Given the description of an element on the screen output the (x, y) to click on. 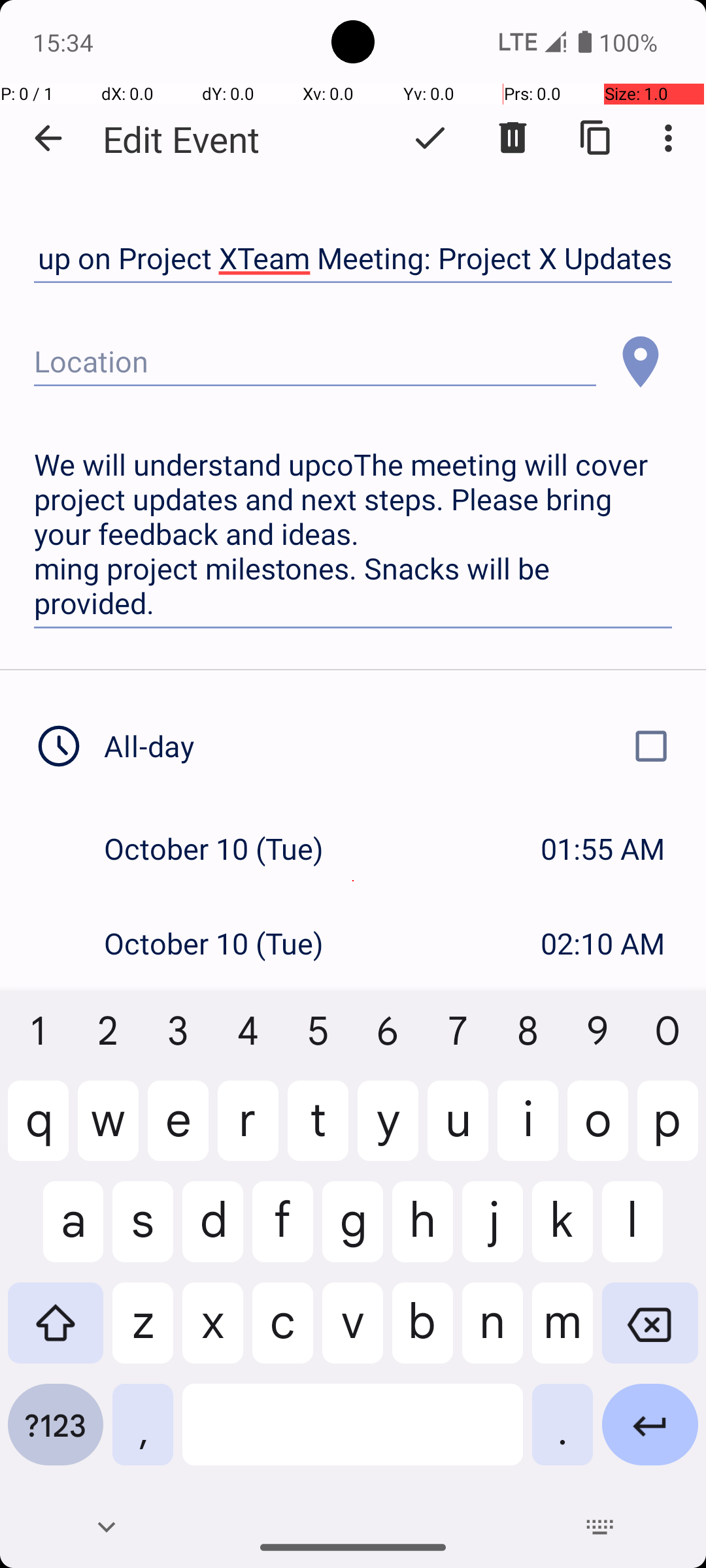
Catch up on Project XTeam Meeting: Project X Updates Element type: android.widget.EditText (352, 258)
We will understand upcoThe meeting will cover project updates and next steps. Please bring your feedback and ideas.
ming project milestones. Snacks will be provided. Element type: android.widget.EditText (352, 534)
October 10 (Tue) Element type: android.widget.TextView (227, 847)
01:55 AM Element type: android.widget.TextView (602, 847)
02:10 AM Element type: android.widget.TextView (602, 942)
